Given the description of an element on the screen output the (x, y) to click on. 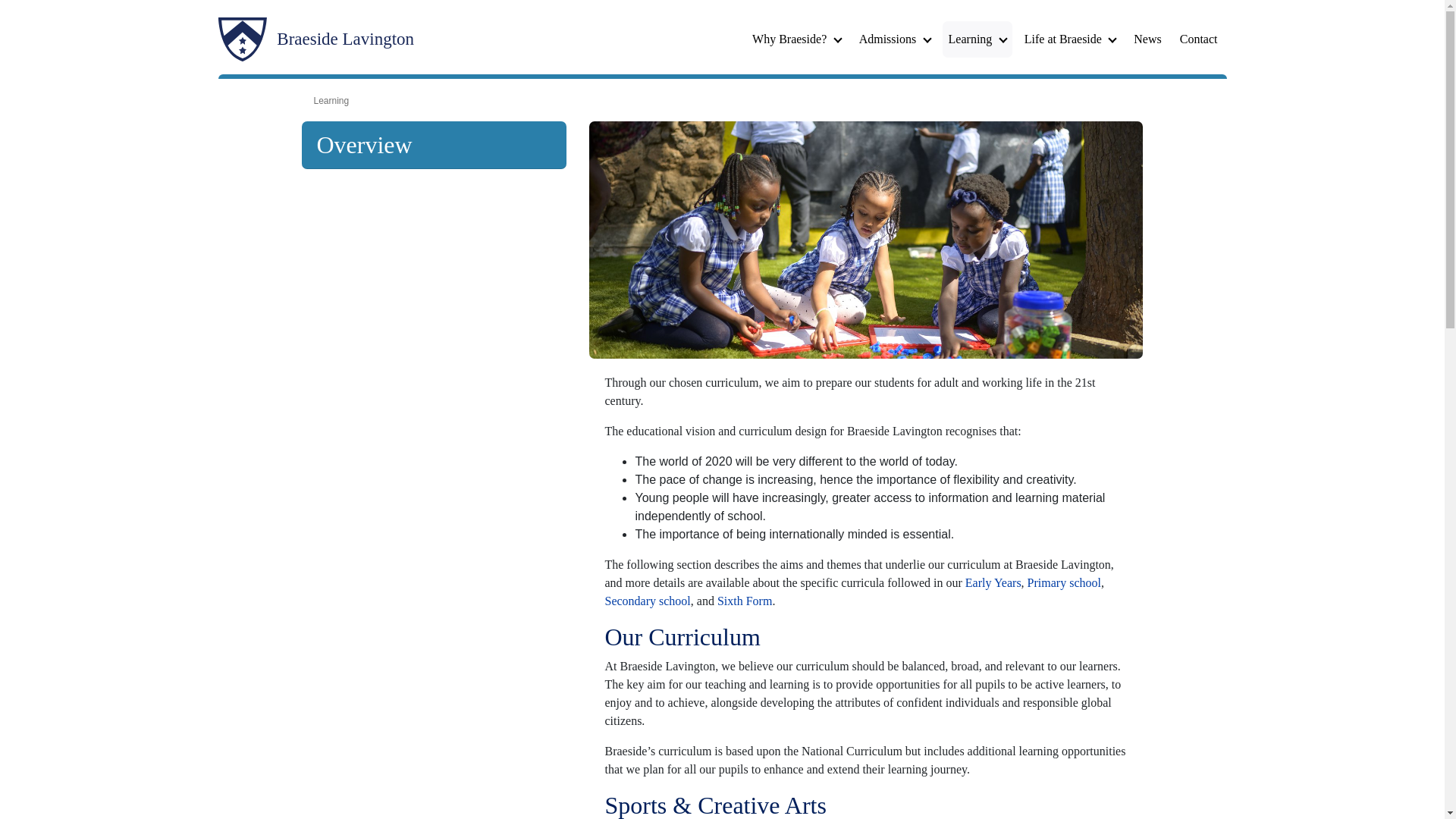
Sixth Form (744, 600)
Early Years (993, 582)
Learning (976, 39)
Contact (1198, 39)
Life at Braeside (1069, 39)
Primary school (1063, 582)
News (1146, 39)
Braeside Lavington (316, 39)
Admissions (894, 39)
Secondary school (647, 600)
